Given the description of an element on the screen output the (x, y) to click on. 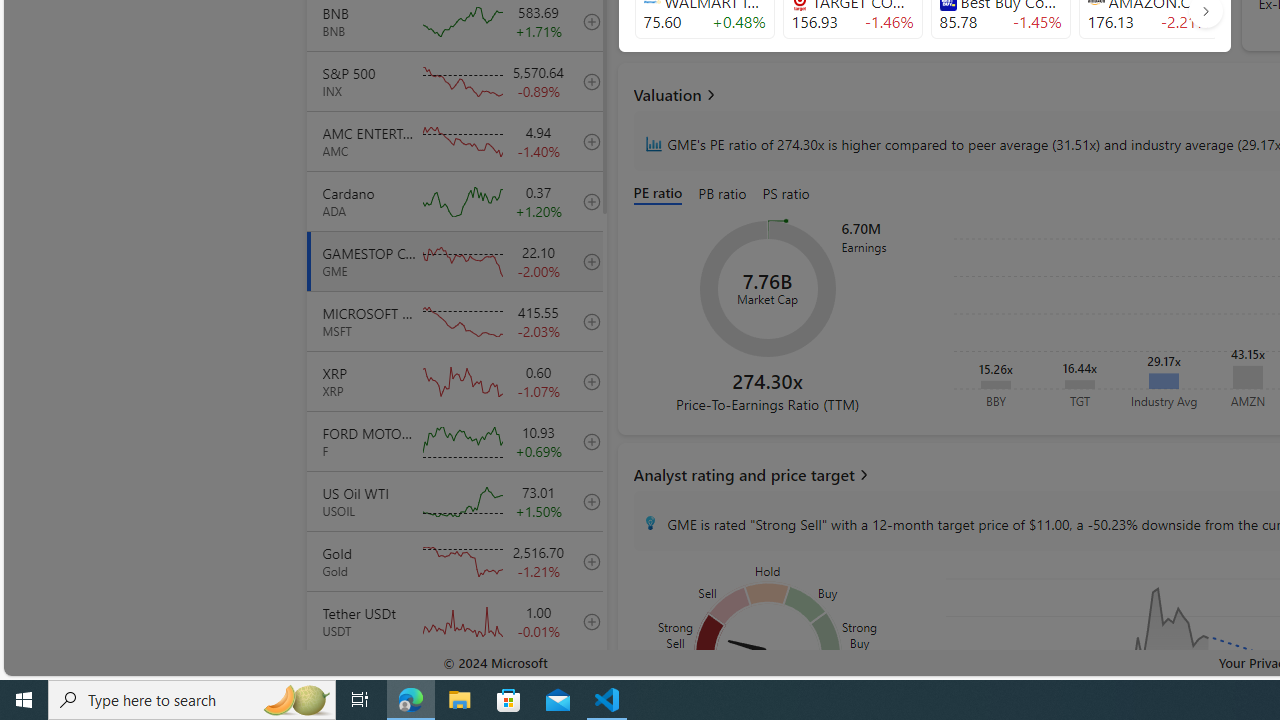
Class: recharts-surface (767, 288)
PE ratio (662, 194)
AutomationID: finance_carousel_navi_arrow (1205, 10)
PB ratio (722, 194)
